Given the description of an element on the screen output the (x, y) to click on. 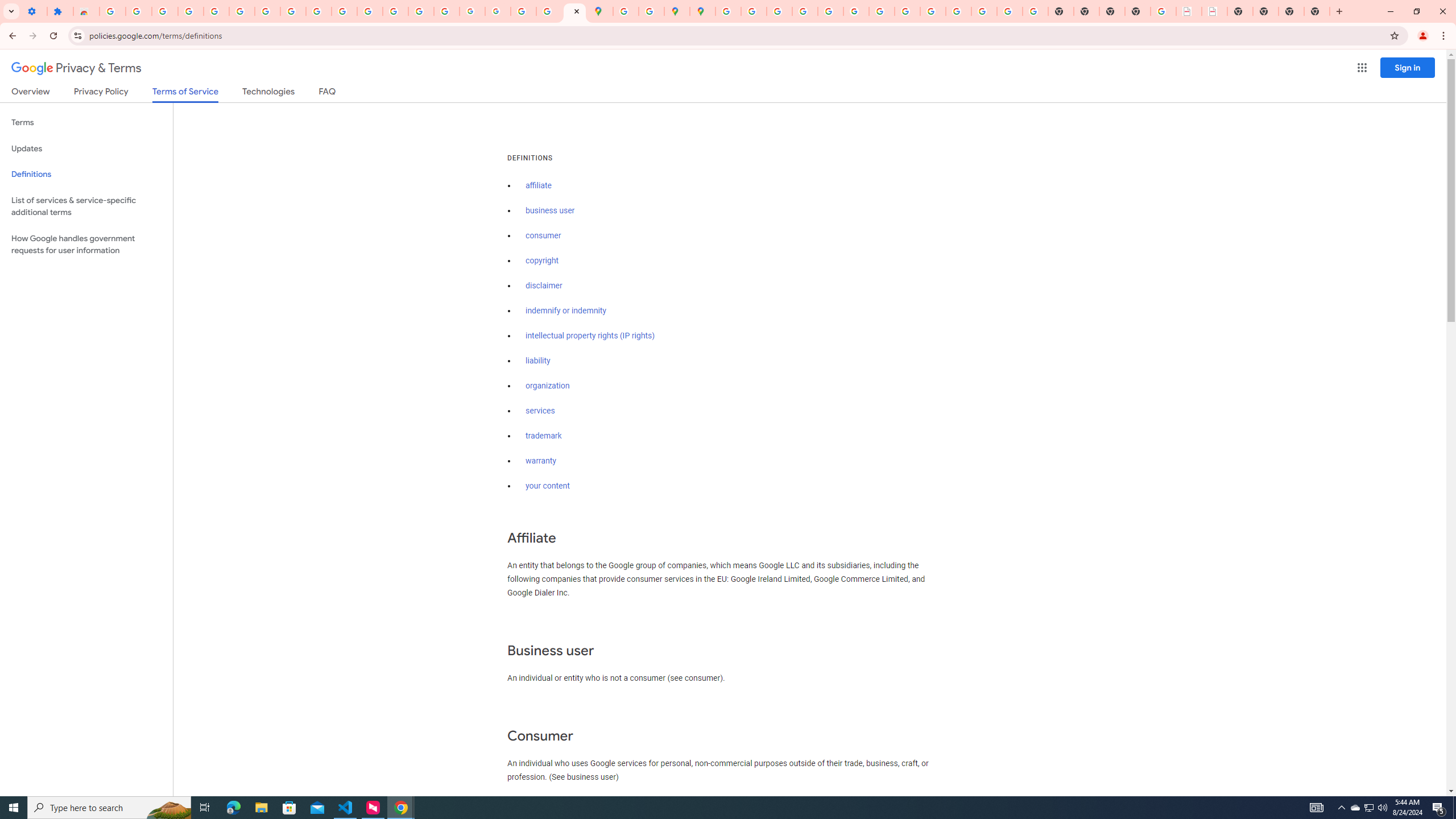
Privacy Help Center - Policies Help (779, 11)
LAAD Defence & Security 2025 | BAE Systems (1188, 11)
consumer (543, 235)
Sign in - Google Accounts (112, 11)
YouTube (318, 11)
copyright (542, 260)
business user (550, 210)
Privacy Help Center - Policies Help (804, 11)
